Given the description of an element on the screen output the (x, y) to click on. 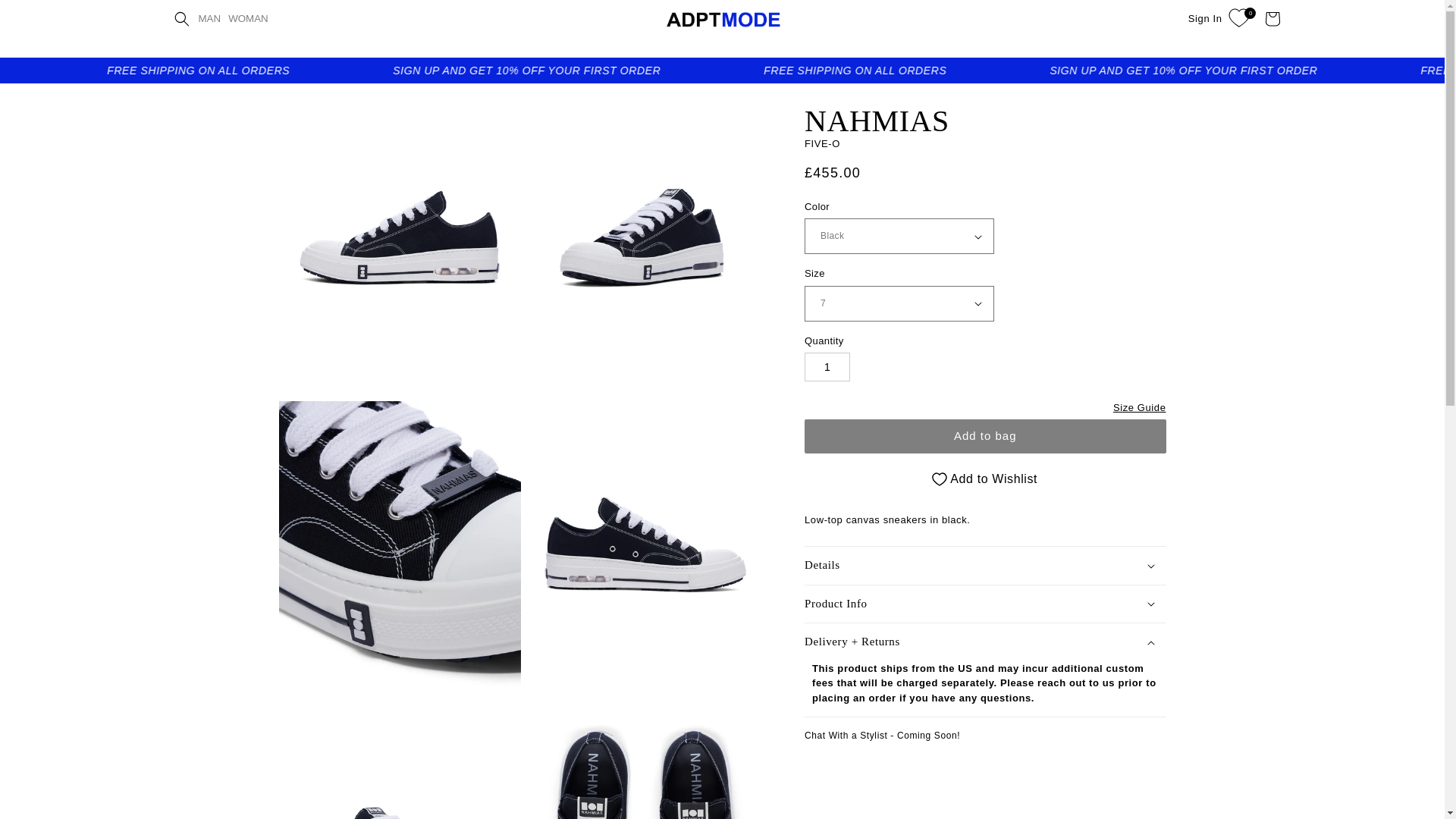
1 (827, 366)
Skip to content (45, 16)
Stylist (882, 735)
